Given the description of an element on the screen output the (x, y) to click on. 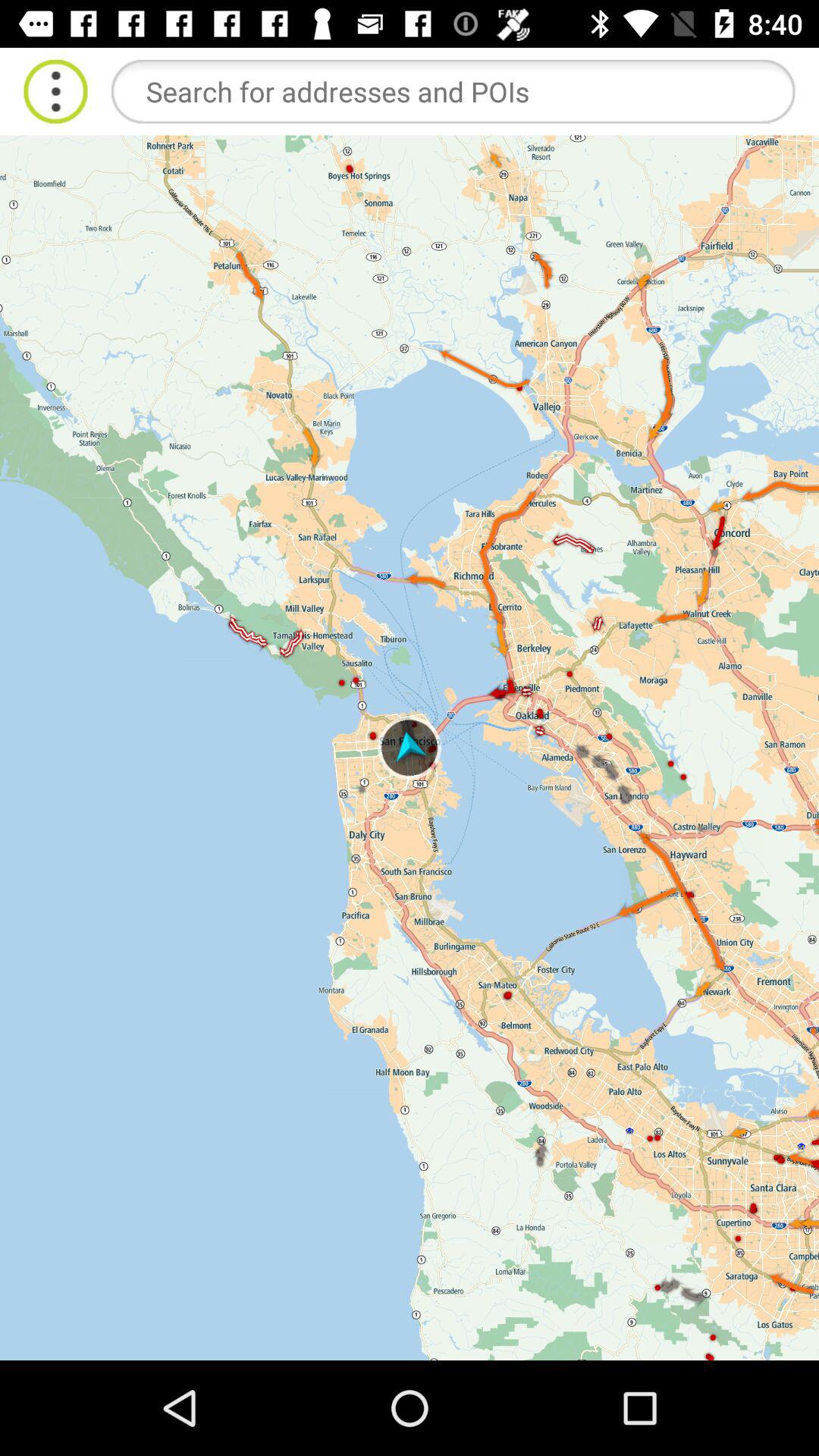
search addresses and points of interest (453, 91)
